Given the description of an element on the screen output the (x, y) to click on. 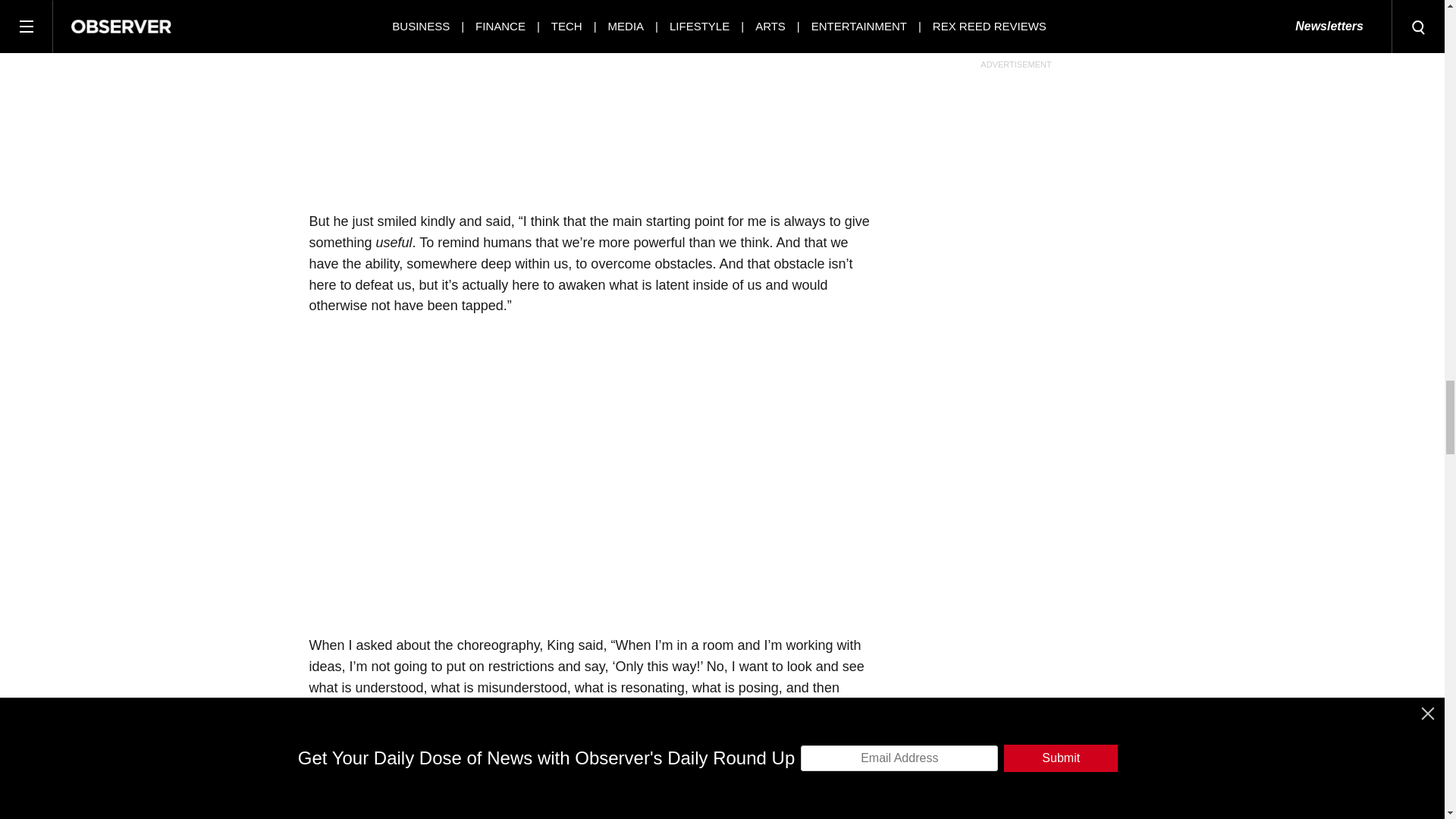
Alonzo King LINES Ballet's Deep River (549, 472)
